Given the description of an element on the screen output the (x, y) to click on. 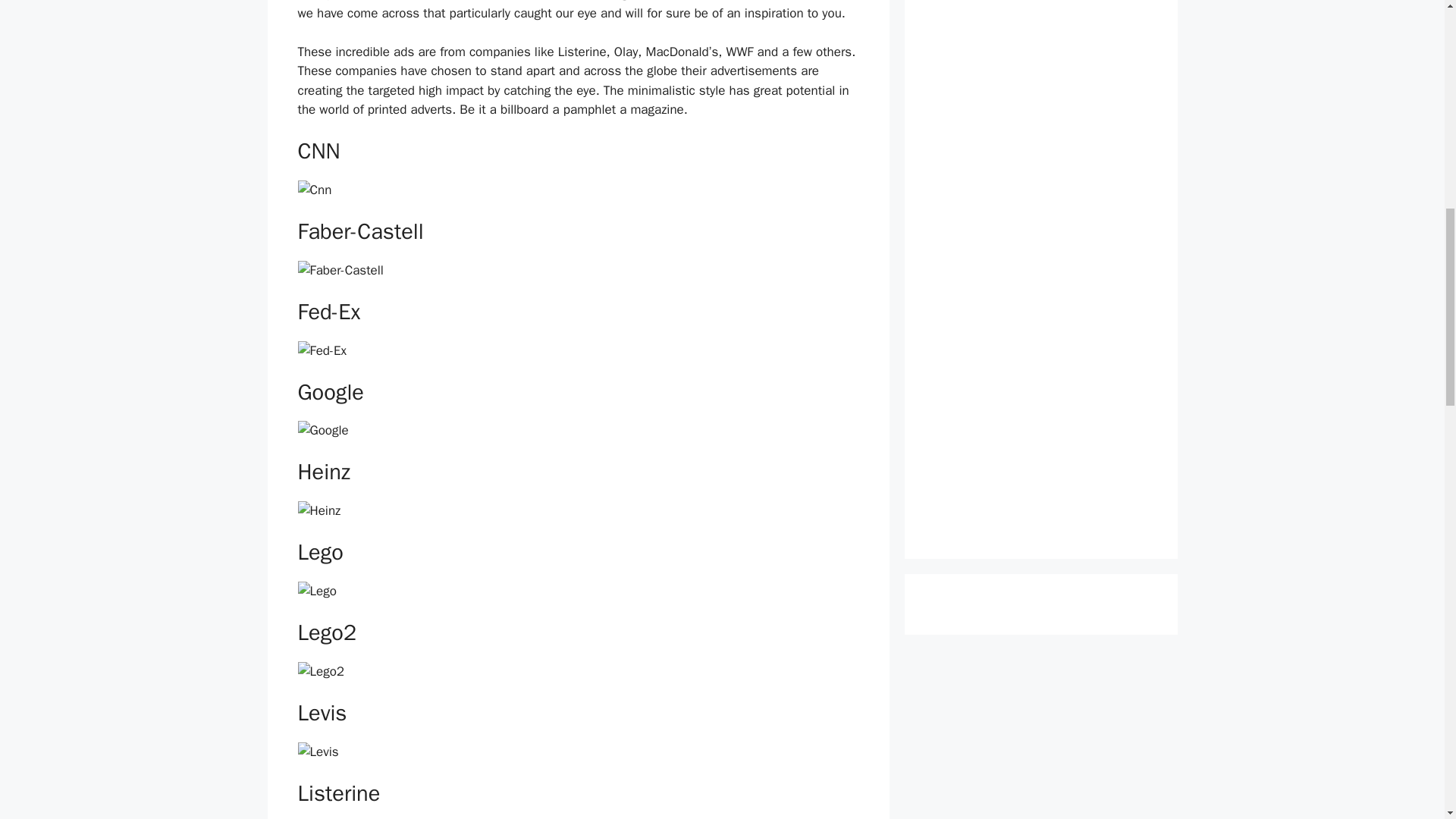
Scroll back to top (1406, 720)
